Given the description of an element on the screen output the (x, y) to click on. 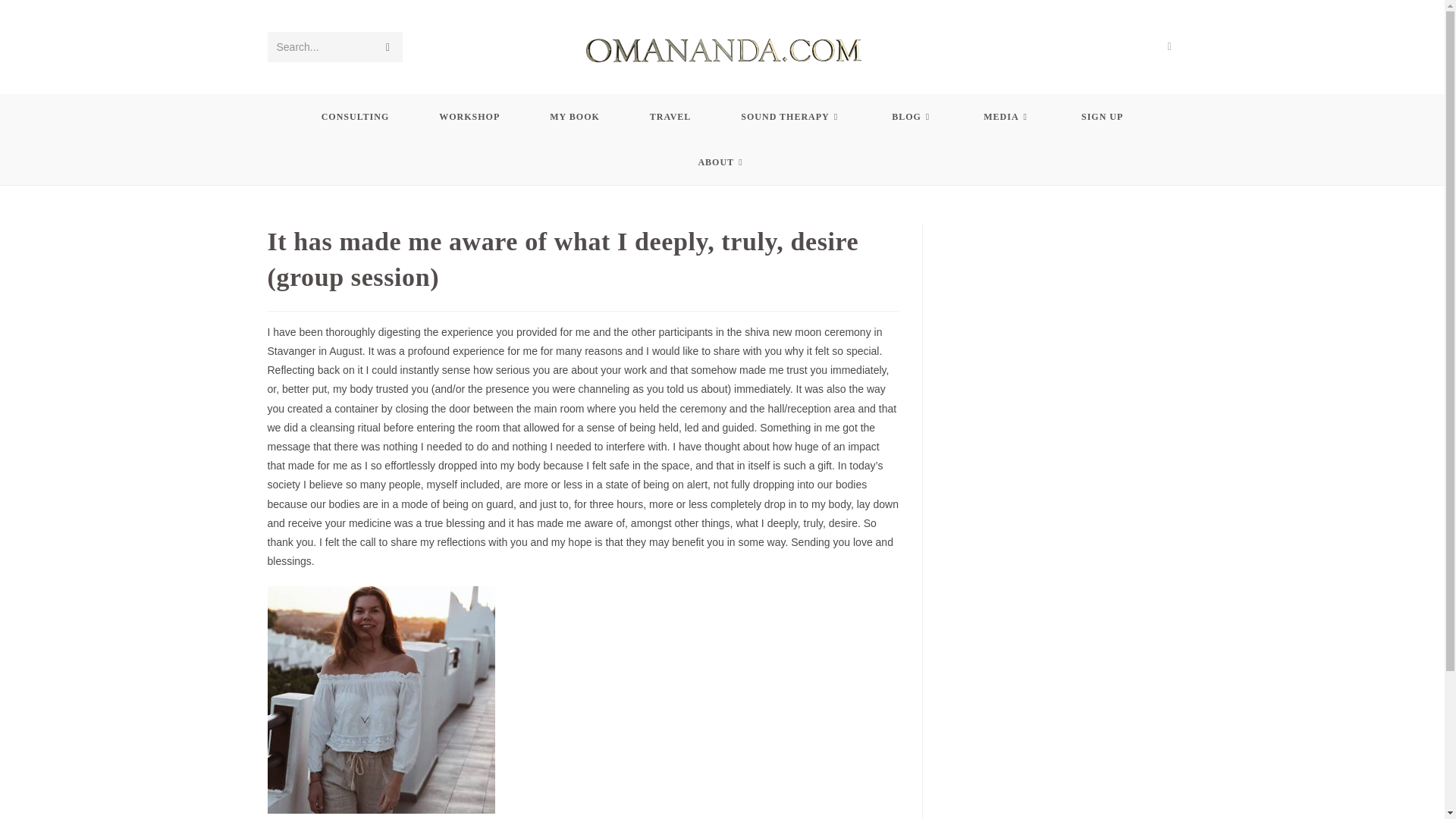
MY BOOK (574, 116)
WORKSHOP (468, 116)
Contact Us (1039, 800)
FAQs (897, 800)
CONSULTING (355, 116)
GDPR (934, 800)
Donate (1161, 800)
ABOUT (721, 162)
SIGN UP (1102, 116)
BLOG (912, 116)
Privacy Policy (1104, 800)
Submit search (386, 46)
Newsletter (981, 800)
TRAVEL (670, 116)
SOUND THERAPY (791, 116)
